Given the description of an element on the screen output the (x, y) to click on. 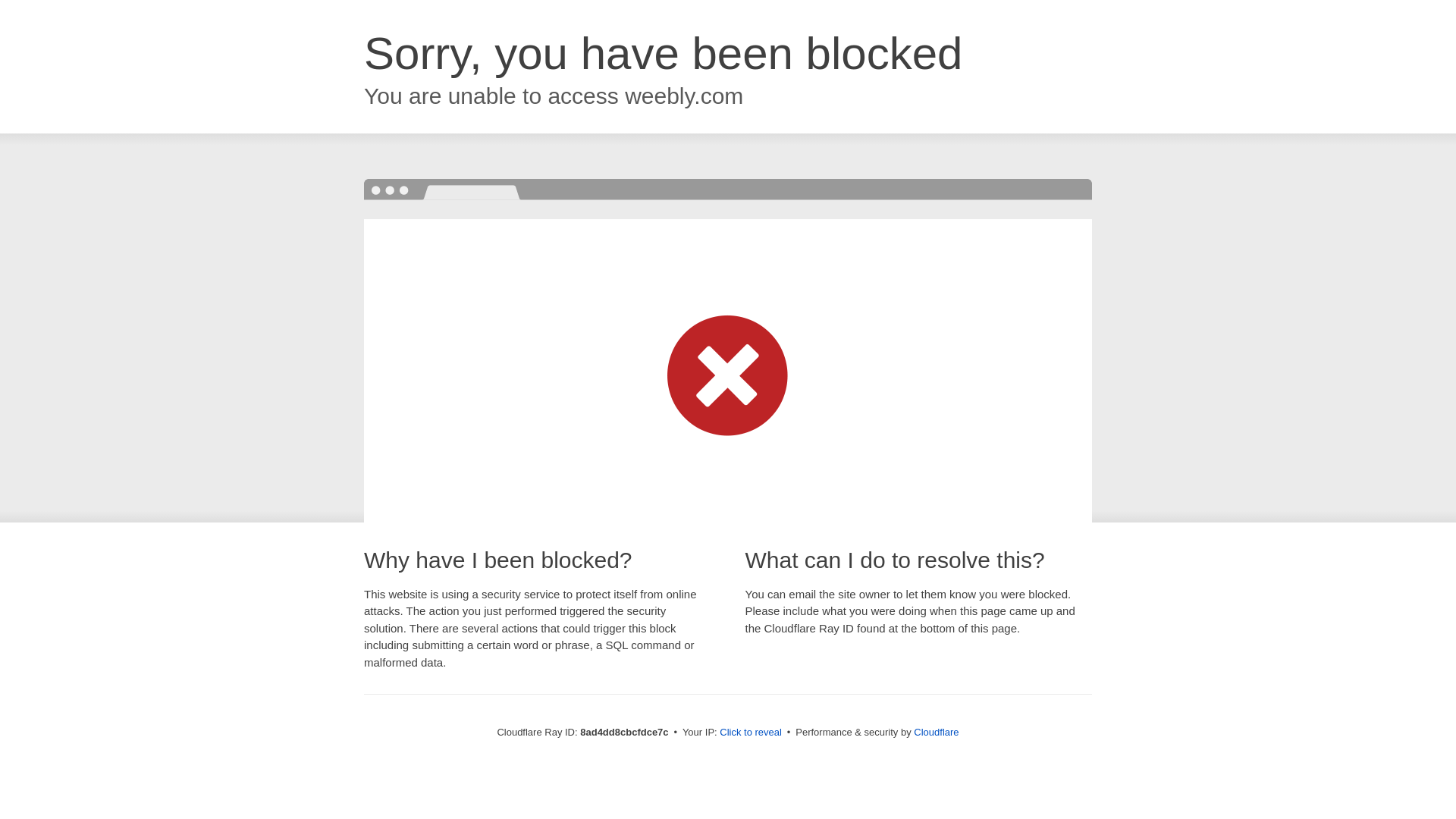
Cloudflare (936, 731)
Click to reveal (750, 732)
